Given the description of an element on the screen output the (x, y) to click on. 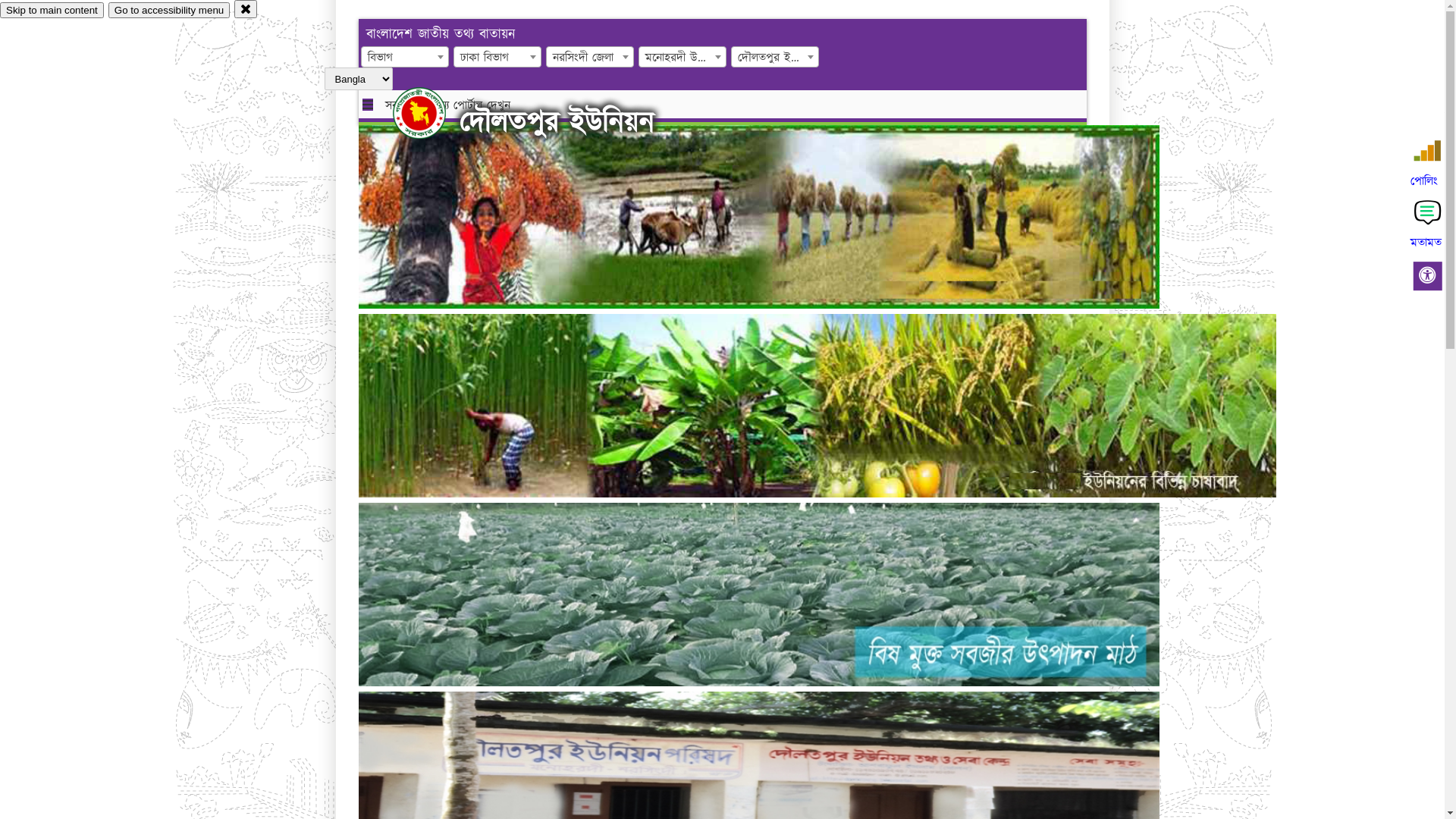

                
             Element type: hover (431, 112)
Skip to main content Element type: text (51, 10)
Go to accessibility menu Element type: text (168, 10)
close Element type: hover (245, 9)
